Given the description of an element on the screen output the (x, y) to click on. 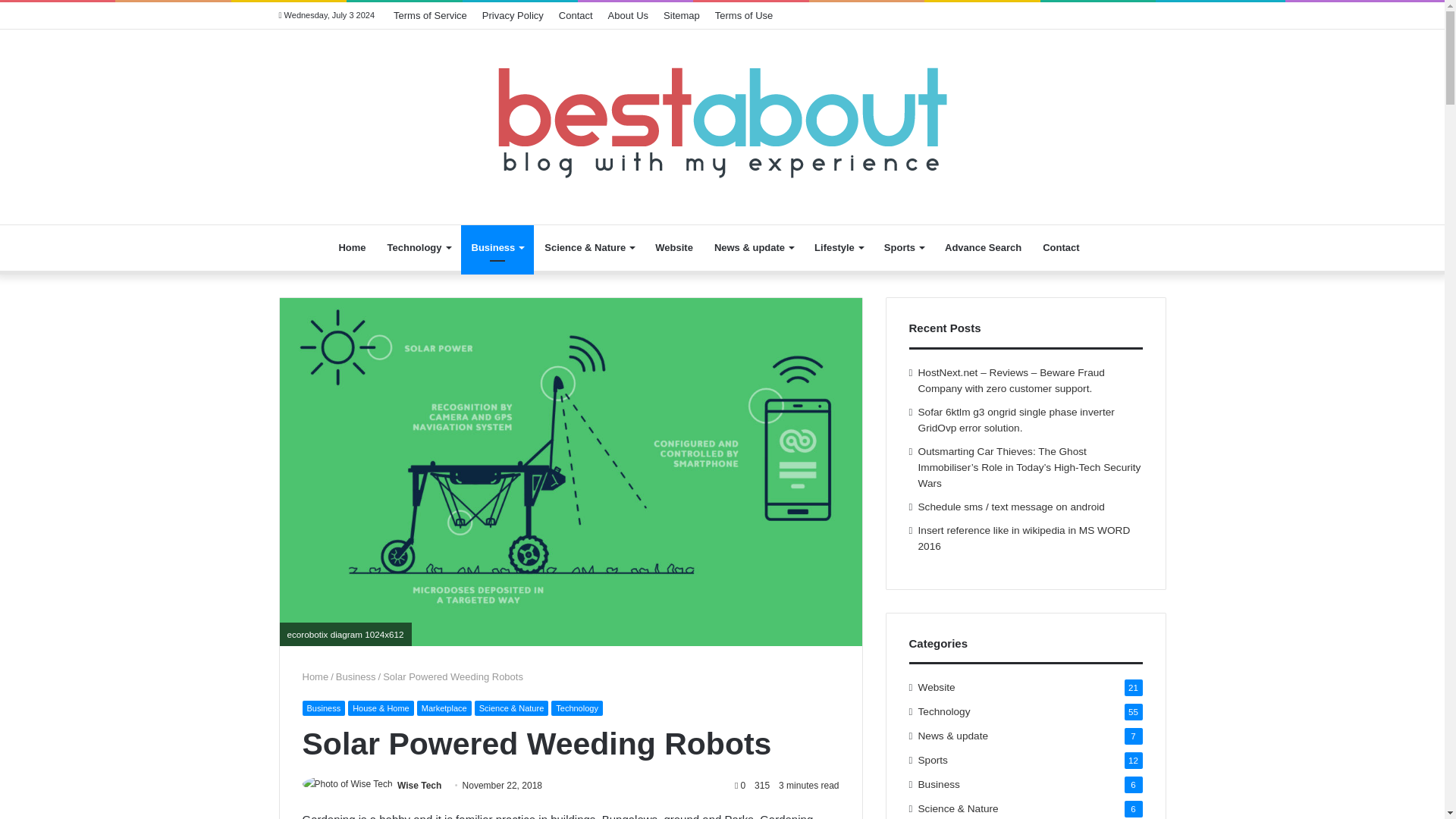
Terms of Service (429, 15)
Lifestyle (838, 248)
Wise Tech (419, 785)
Privacy Policy (512, 15)
Business (497, 248)
Home (351, 248)
About Us (627, 15)
Contact (575, 15)
Best About (722, 118)
Sports (903, 248)
Website (674, 248)
Terms of Use (743, 15)
Technology (419, 248)
Sitemap (681, 15)
